Given the description of an element on the screen output the (x, y) to click on. 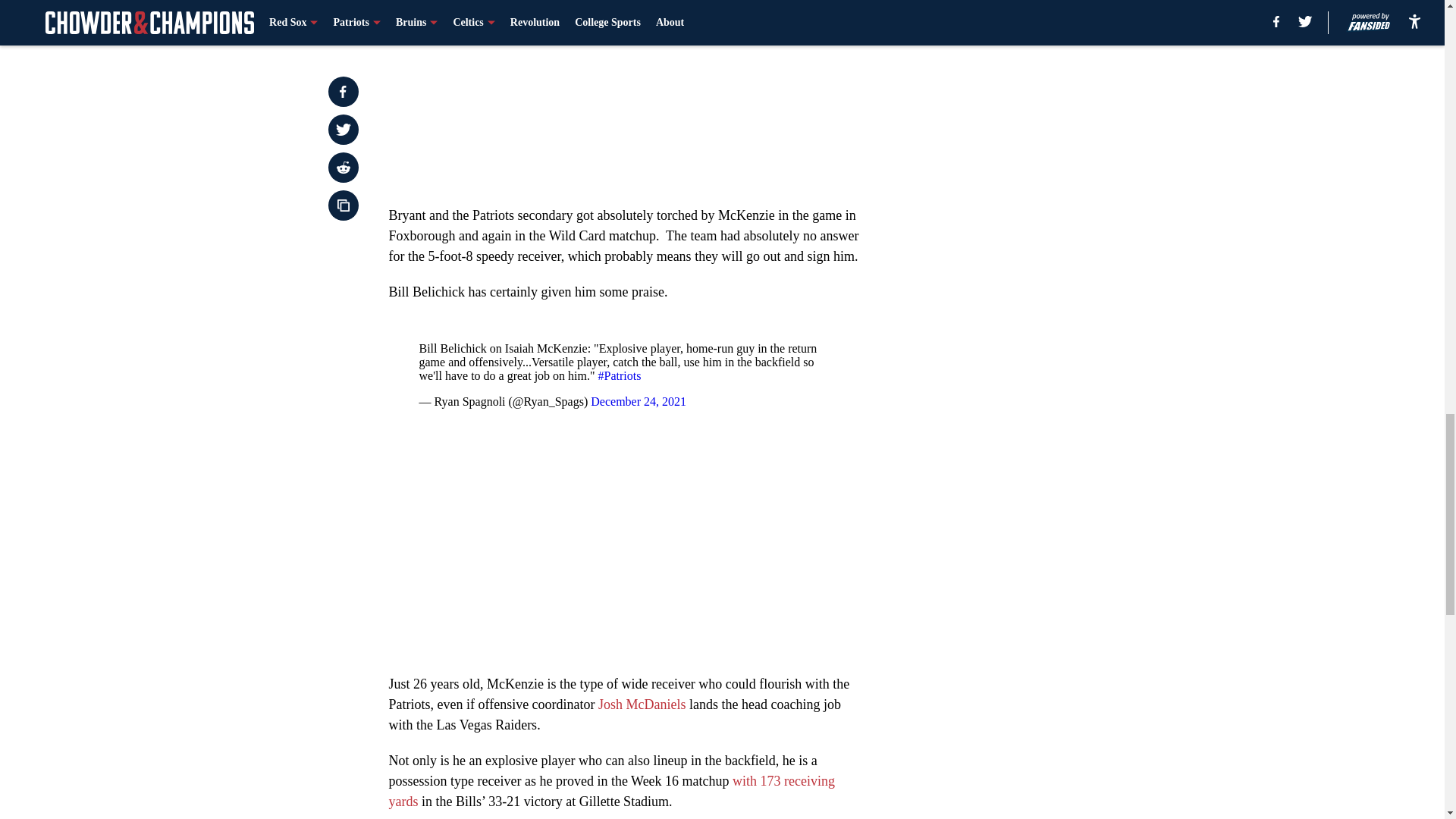
Josh McDaniels (641, 703)
with 173 receiving yards (611, 791)
December 24, 2021 (638, 400)
